Given the description of an element on the screen output the (x, y) to click on. 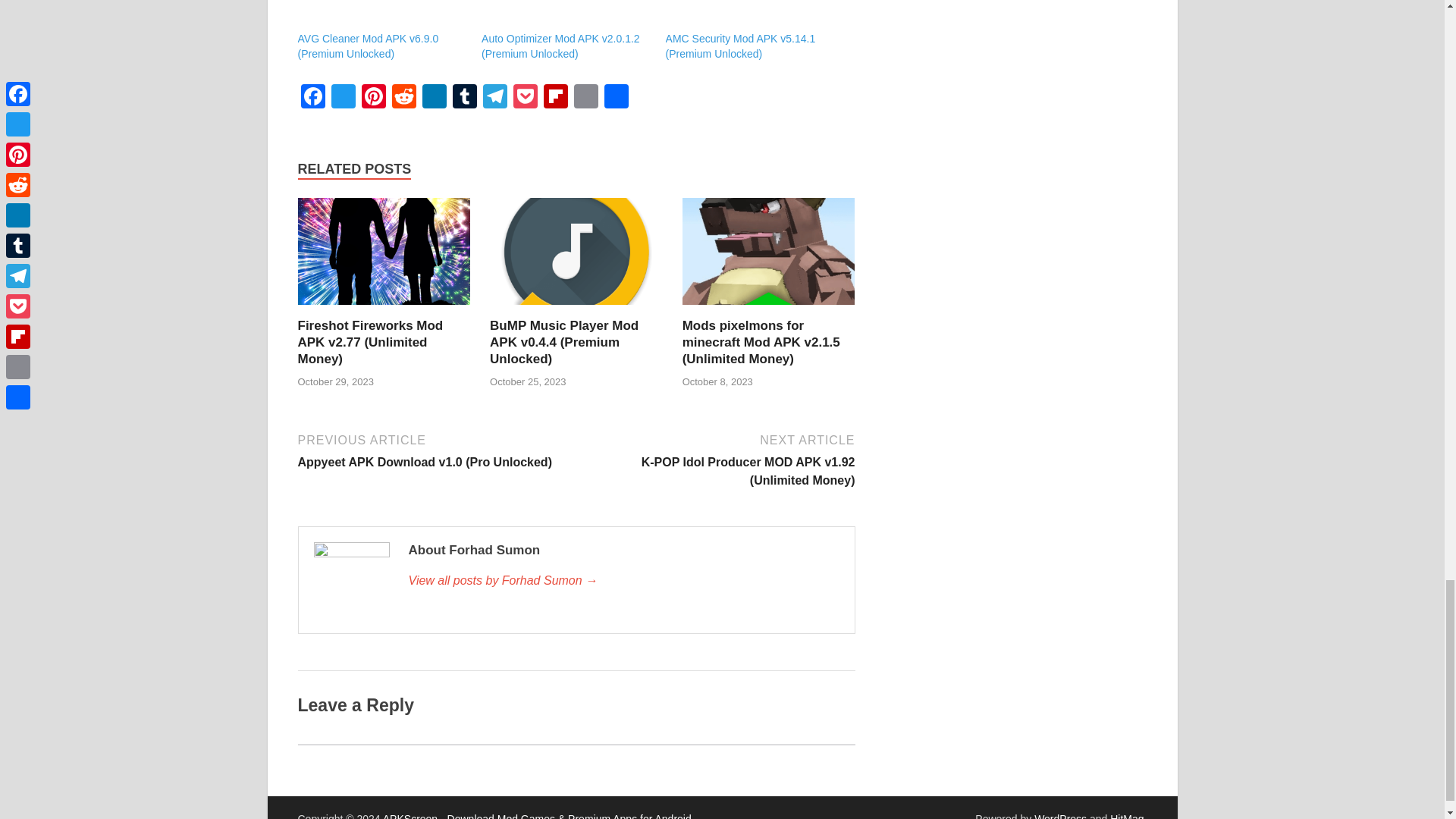
Twitter (342, 98)
Copy Link (584, 98)
Copy Link (584, 98)
Pinterest (373, 98)
Twitter (342, 98)
Tumblr (463, 98)
Pocket (524, 98)
Telegram (494, 98)
Facebook (312, 98)
Pinterest (373, 98)
Facebook (312, 98)
Reddit (403, 98)
Flipboard (555, 98)
LinkedIn (433, 98)
Tumblr (463, 98)
